Given the description of an element on the screen output the (x, y) to click on. 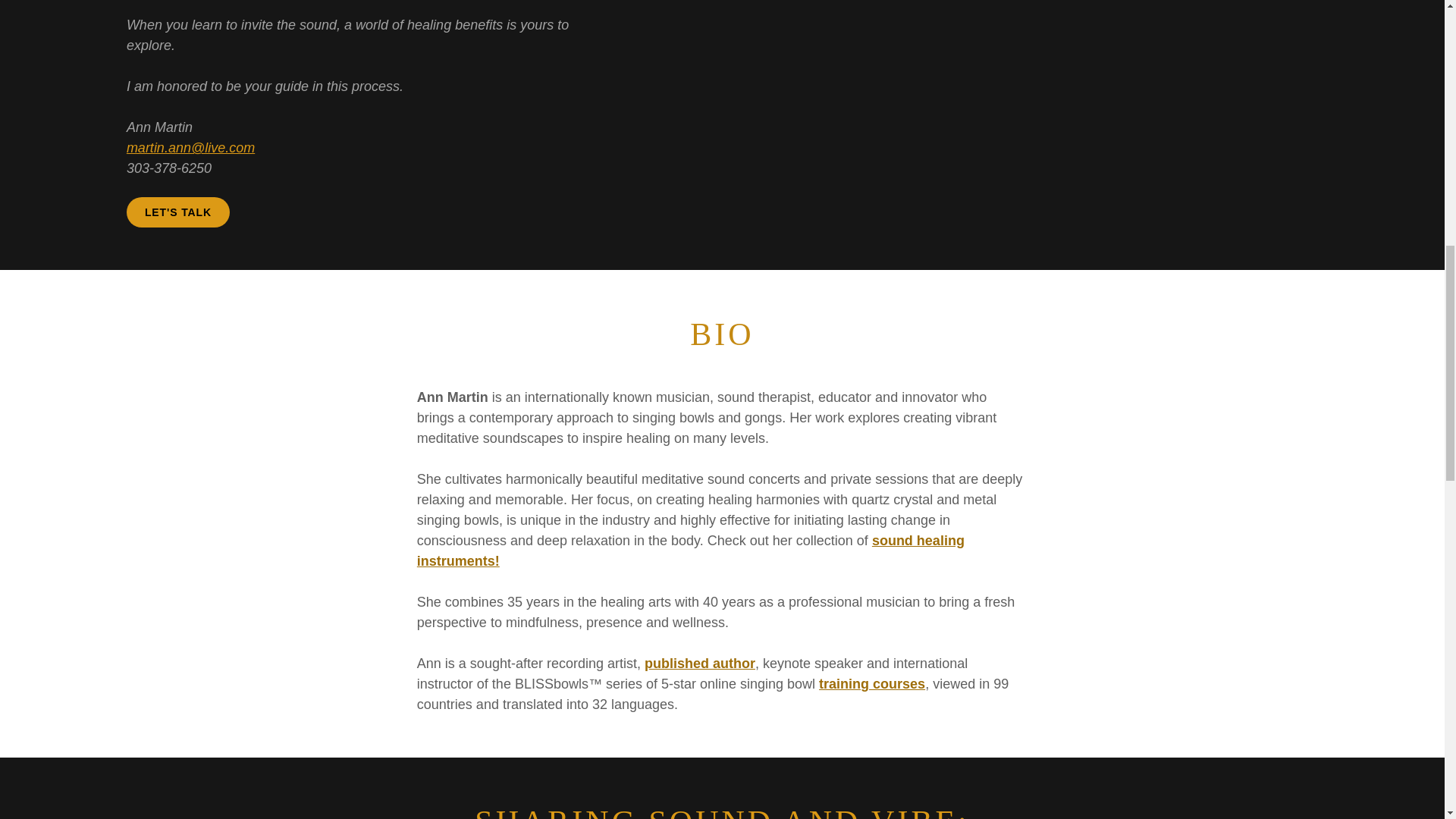
LET'S TALK (178, 212)
published author (700, 663)
sound healing instruments! (689, 550)
training courses (871, 683)
